Given the description of an element on the screen output the (x, y) to click on. 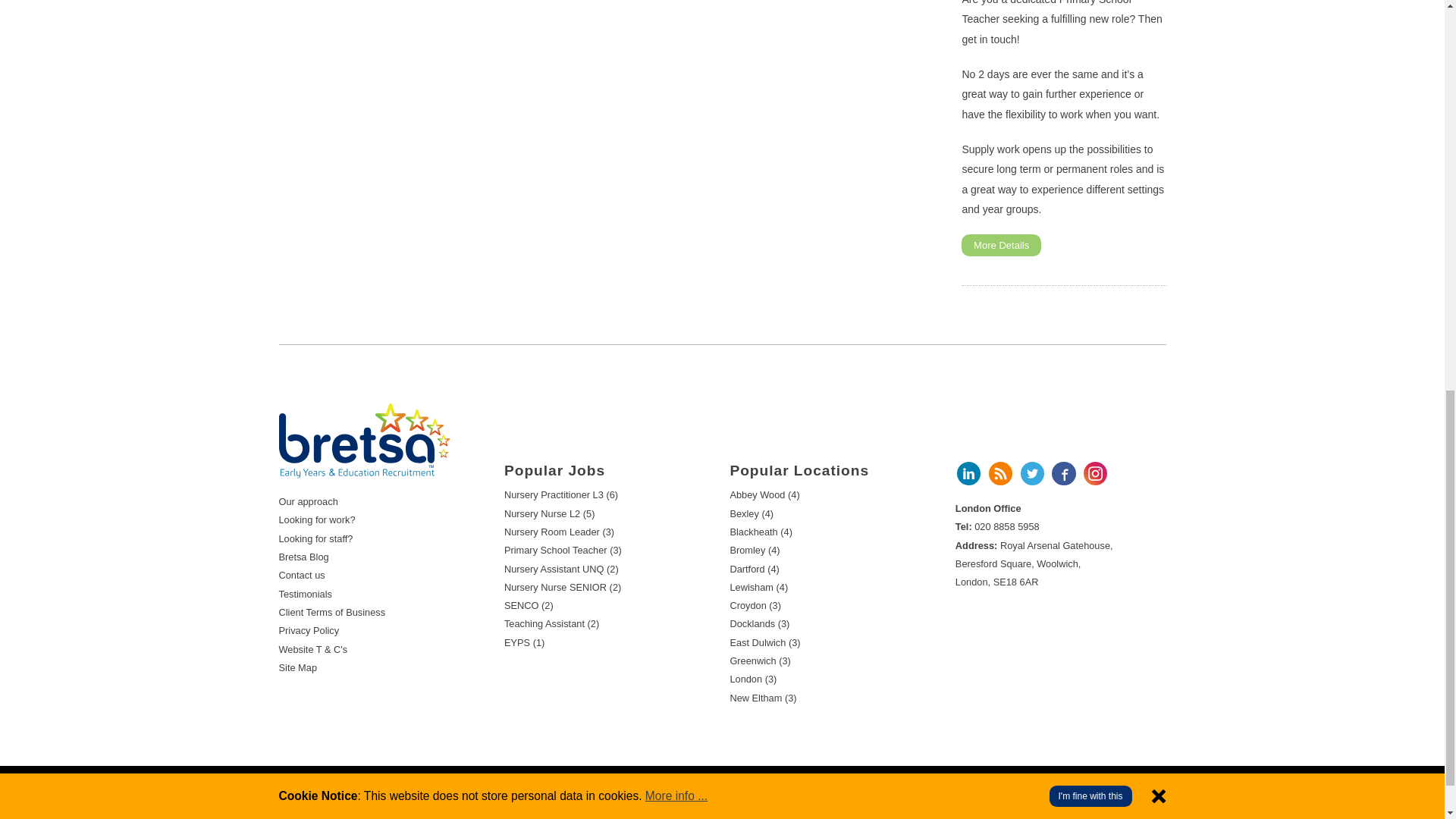
Dismiss - I'm fine with this (1158, 10)
Privacy Policy (309, 630)
Testimonials (305, 593)
More Details (1000, 245)
Site Map (298, 667)
Looking for work? (317, 519)
Client Terms of Business (332, 612)
Our approach (308, 501)
Contact us (301, 574)
Looking for staff? (316, 538)
Bretsa Blog (304, 556)
Nursery jobs in Dorking (364, 440)
